Given the description of an element on the screen output the (x, y) to click on. 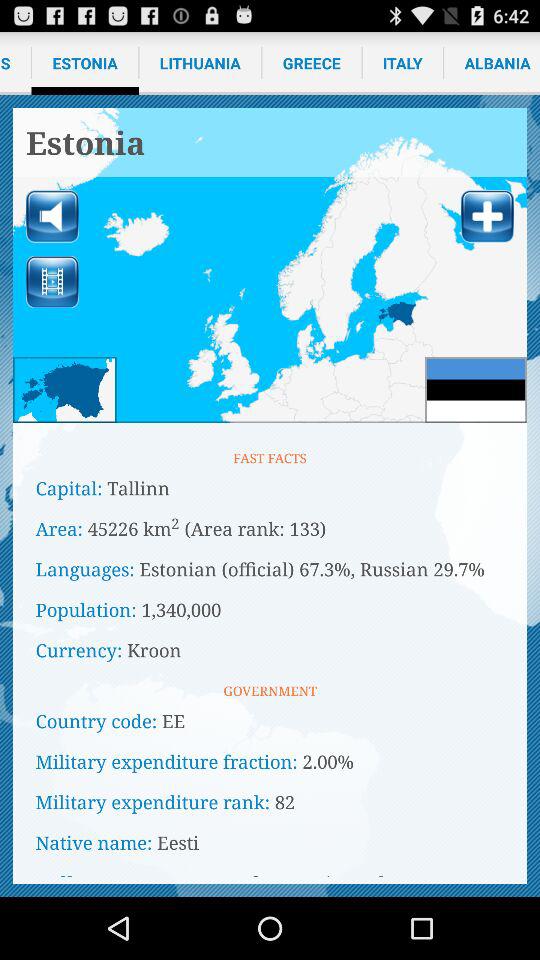
flag of region (475, 389)
